Given the description of an element on the screen output the (x, y) to click on. 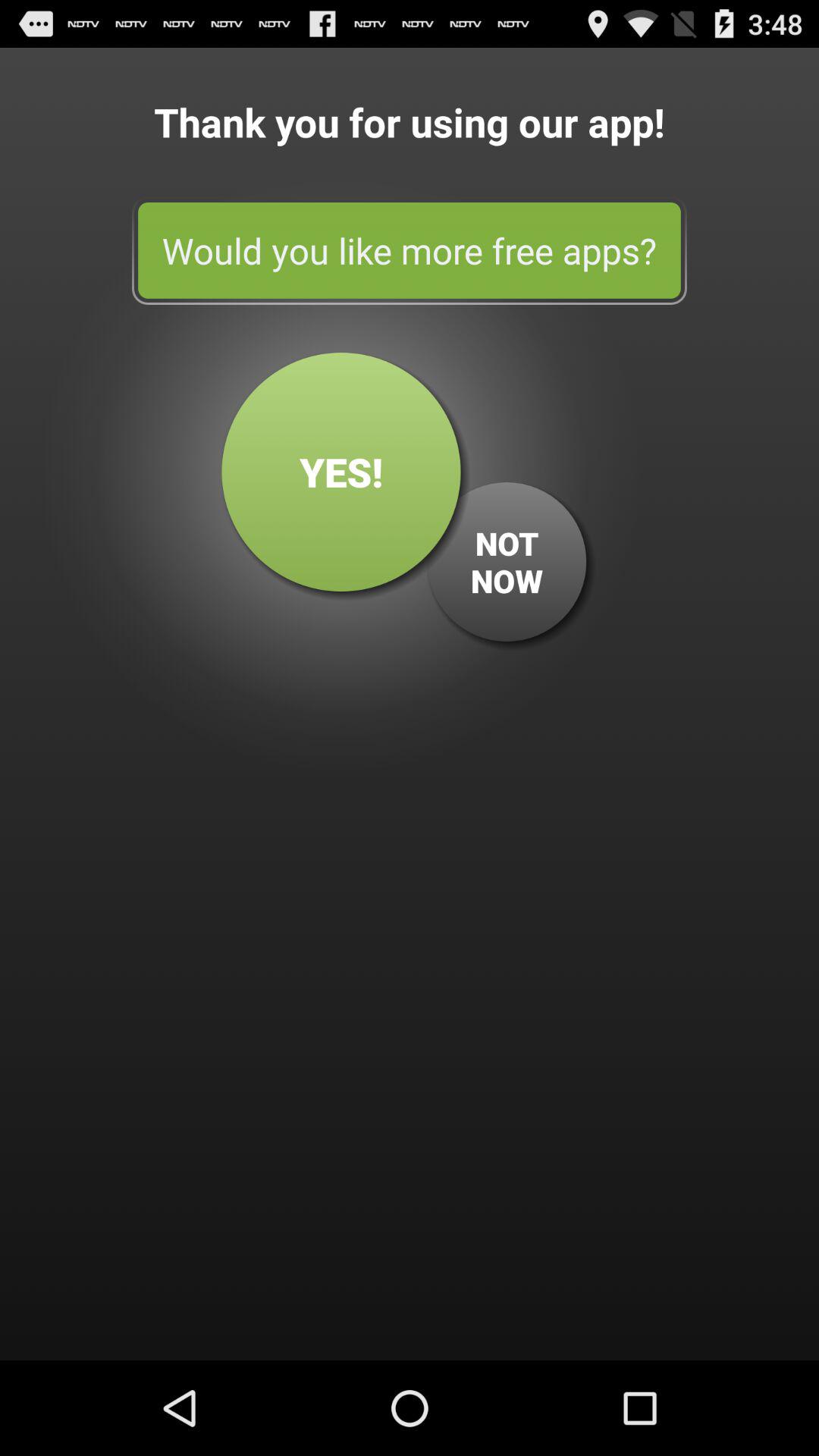
scroll to not now icon (506, 561)
